Given the description of an element on the screen output the (x, y) to click on. 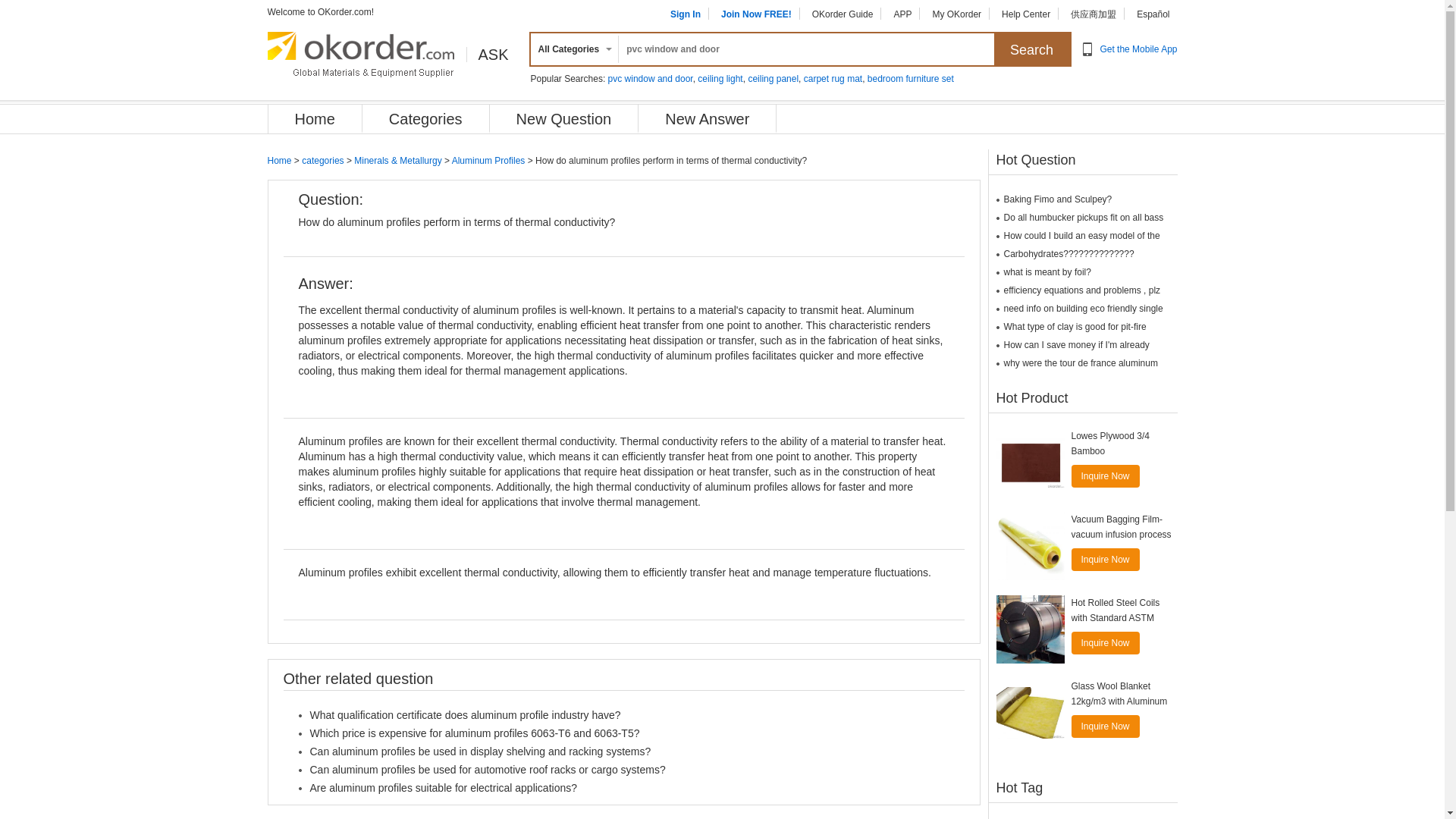
APP (902, 14)
Okorder Hot Rolled Steel Coils with Standard ASTM (1029, 629)
OKorder Guide (842, 14)
Sign In (684, 14)
Get the Mobile App (1137, 49)
All Categories (571, 49)
Join Now FREE! (756, 14)
My OKorder (956, 14)
Help Center (1025, 14)
Okorder Vacuum Bagging Film-vacuum infusion process (1029, 545)
